Given the description of an element on the screen output the (x, y) to click on. 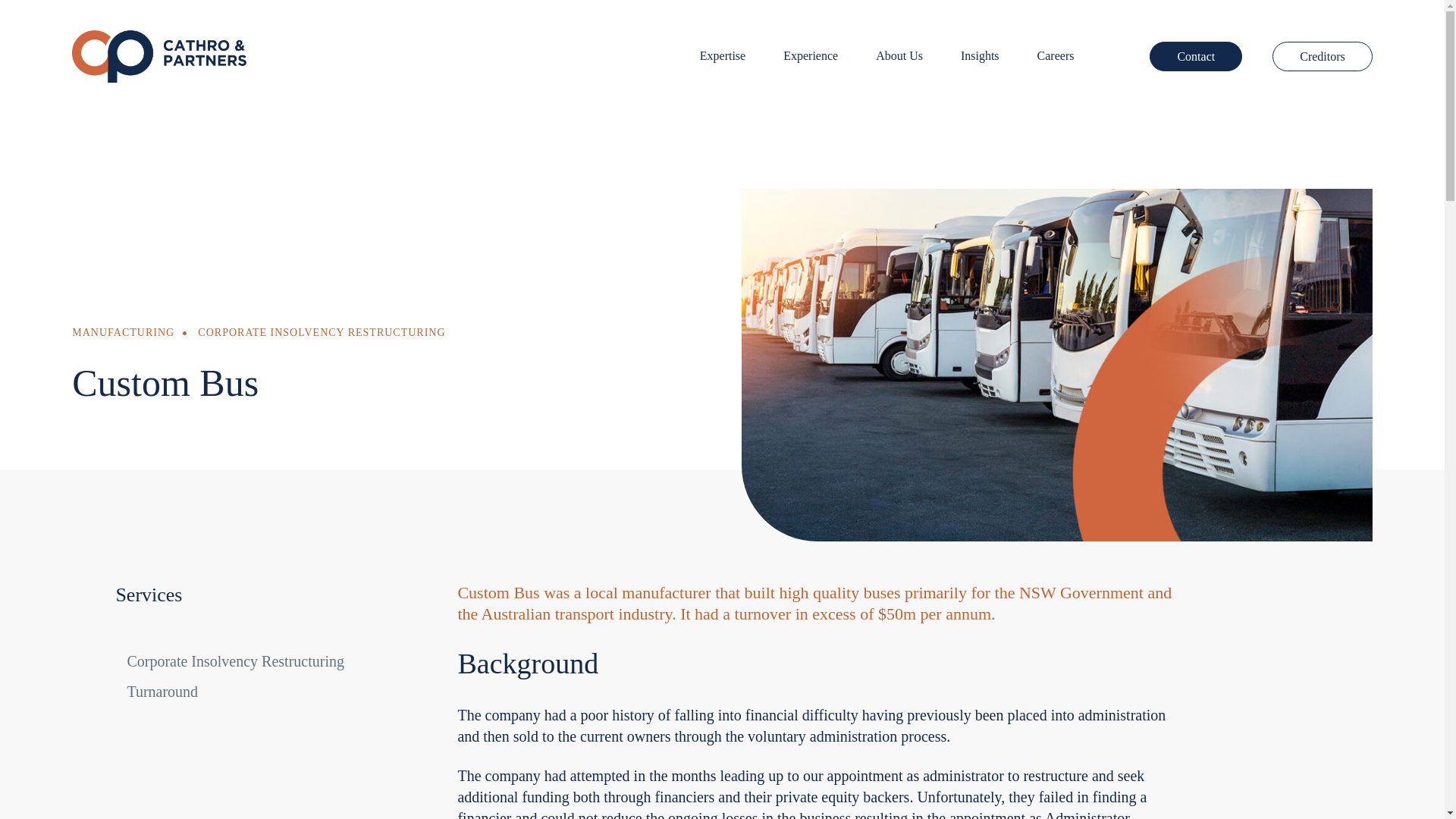
About Us (899, 56)
Contact (1195, 56)
Creditors (1322, 56)
Insights (979, 56)
Experience (810, 56)
Careers (1055, 56)
MANUFACTURING (122, 332)
CORPORATE INSOLVENCY RESTRUCTURING (321, 332)
Turnaround (156, 691)
Corporate Insolvency Restructuring (229, 660)
